Given the description of an element on the screen output the (x, y) to click on. 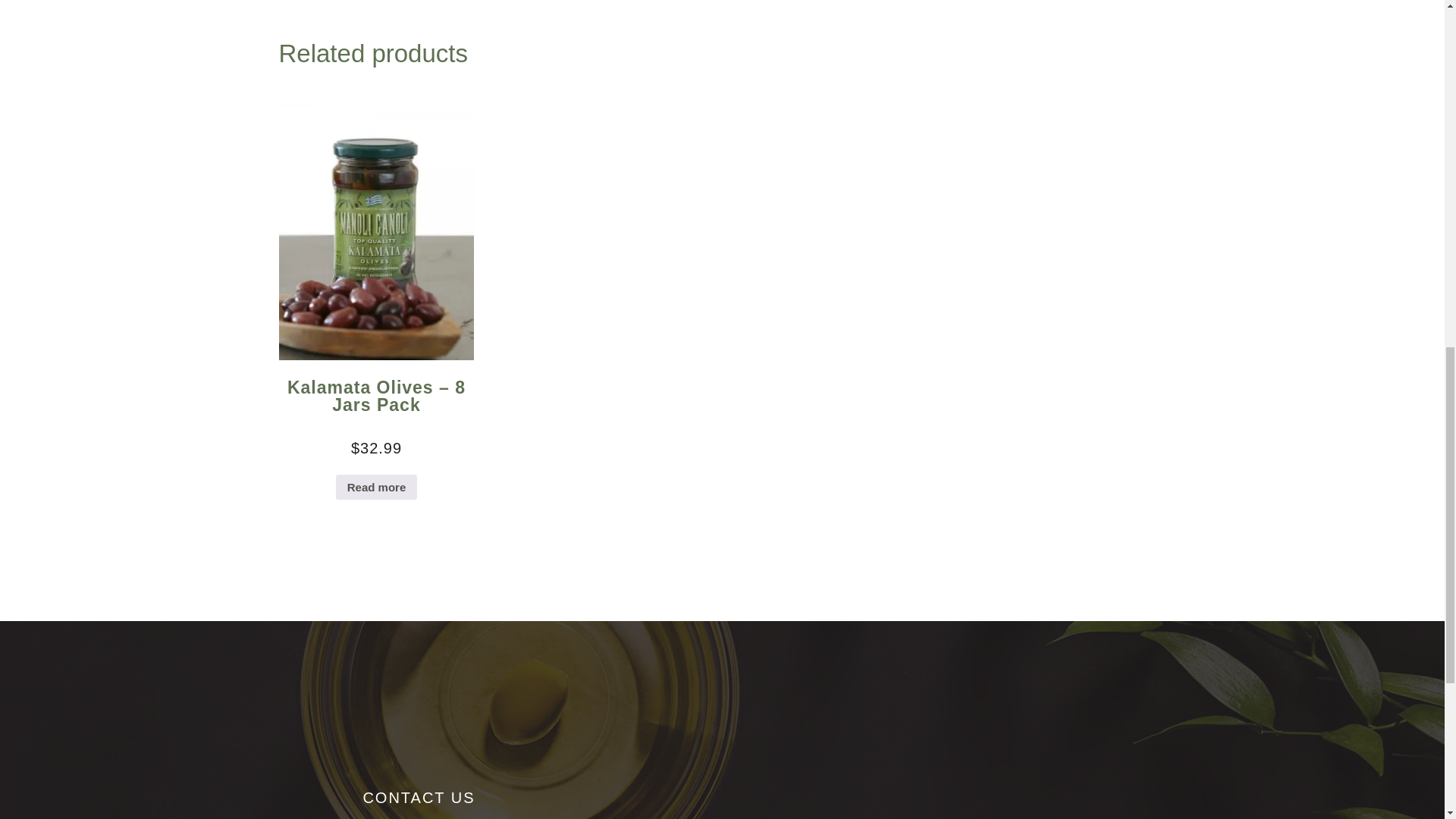
Read more (376, 487)
